Given the description of an element on the screen output the (x, y) to click on. 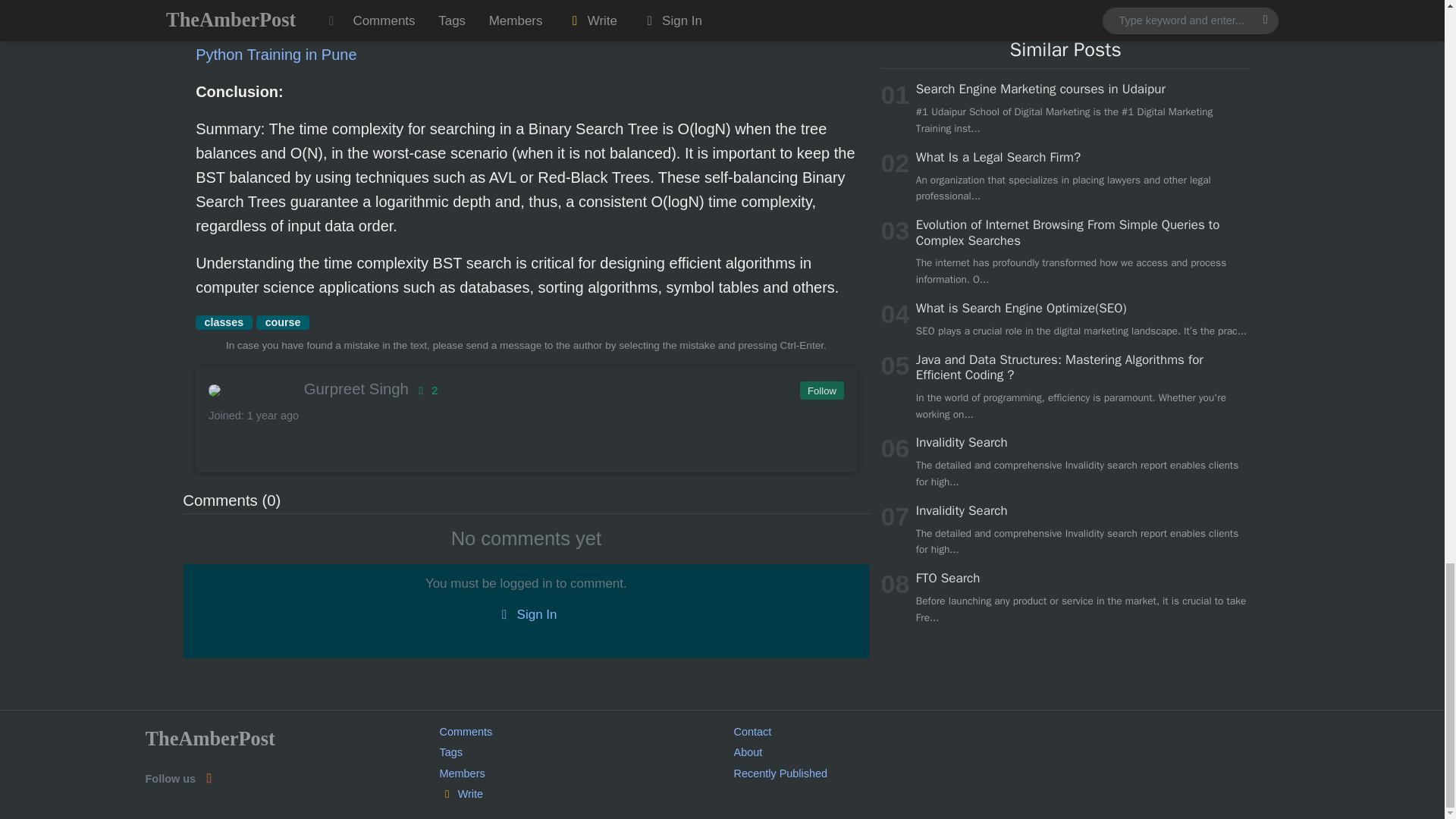
classes (223, 322)
course (282, 322)
course (282, 322)
Data Structures and Algorithms With Python Training in Pune (522, 42)
classes (223, 322)
Sign In (525, 614)
Gurpreet Singh 2 (525, 389)
www.sevenmentor.com (522, 42)
Follow (821, 390)
Rating (425, 390)
